Given the description of an element on the screen output the (x, y) to click on. 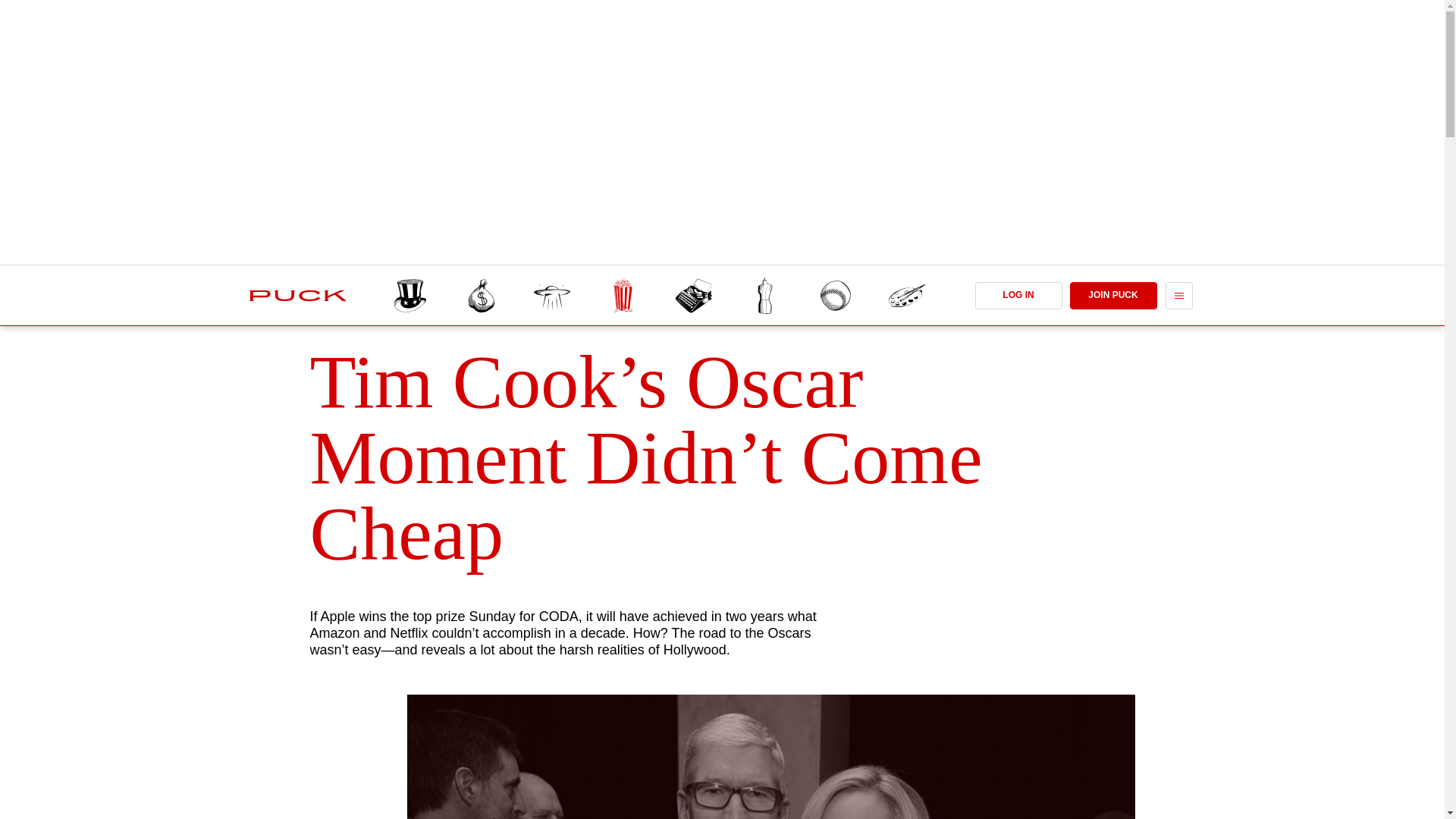
JOIN PUCK (1112, 295)
LOG IN (1018, 295)
